Given the description of an element on the screen output the (x, y) to click on. 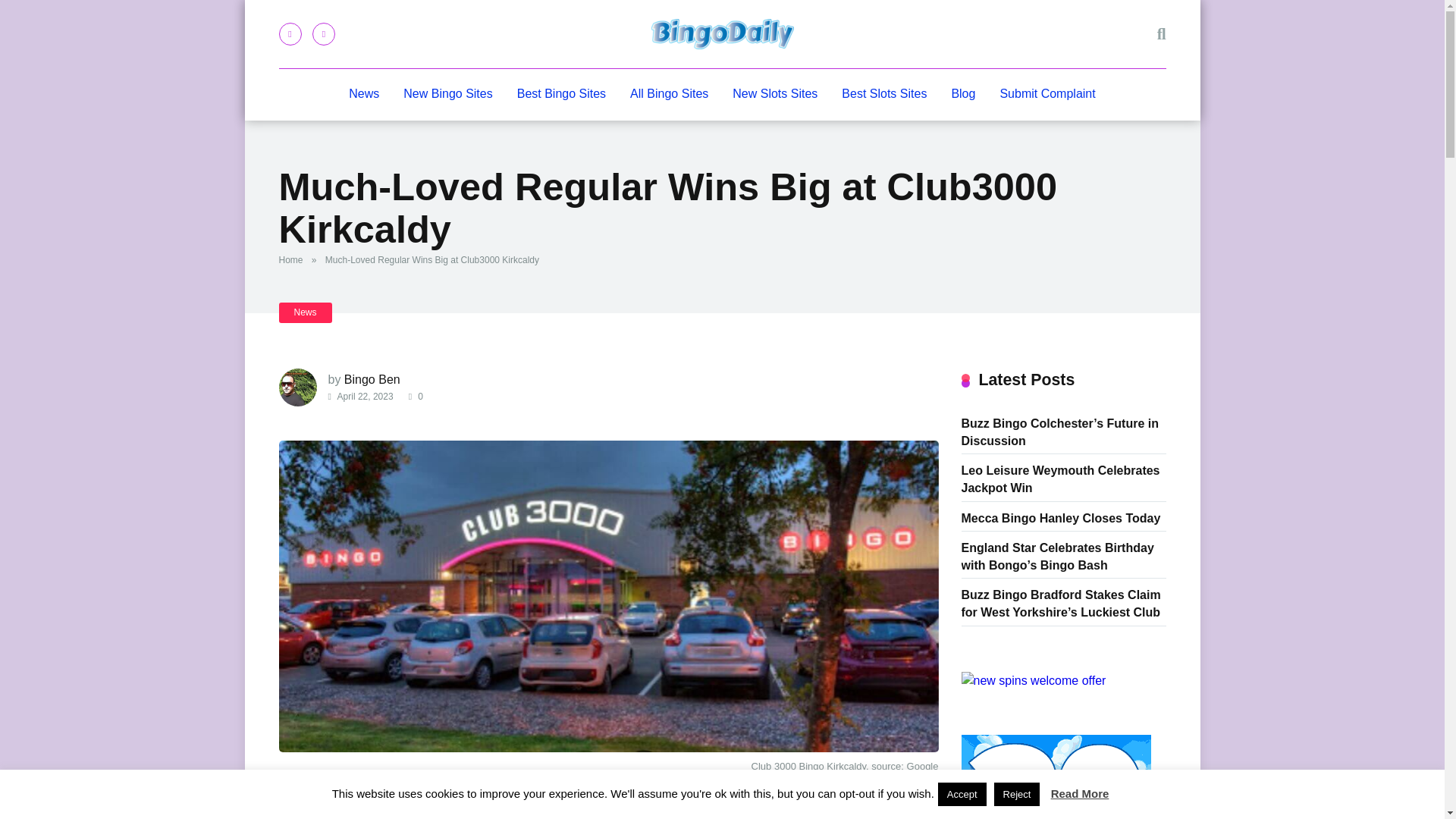
Posts by Bingo Ben (371, 379)
Bingo Ben (371, 379)
Home (293, 259)
News (363, 94)
New Bingo Sites (447, 94)
Best Bingo Sites (561, 94)
New Slots Sites (774, 94)
Best Slots Sites (884, 94)
Twitter (323, 33)
Blog (963, 94)
